Given the description of an element on the screen output the (x, y) to click on. 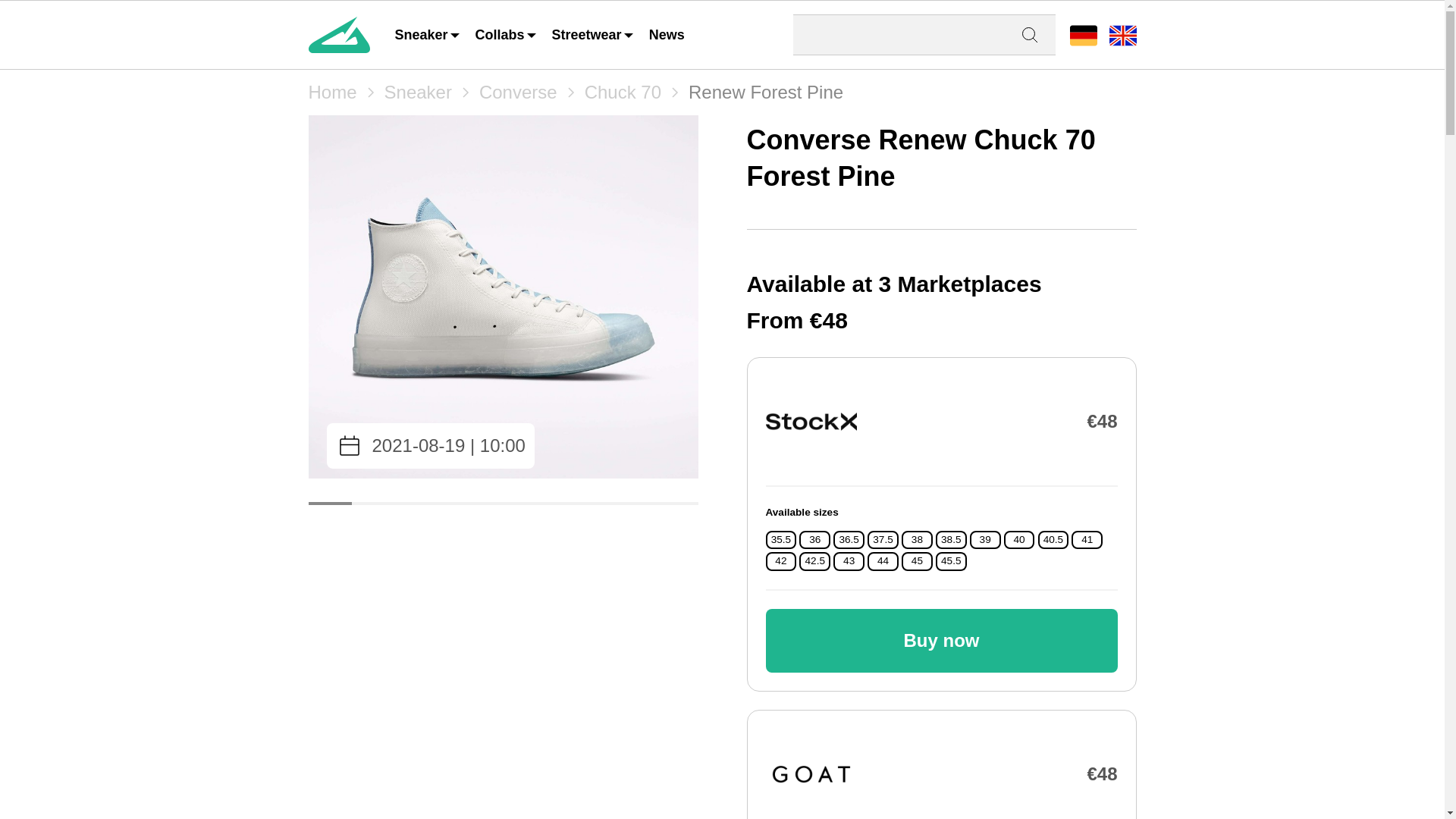
Sneaker (427, 34)
41 (1087, 539)
Sneaker (417, 92)
43 (848, 560)
Buy now (941, 640)
Renew Forest Pine (765, 92)
Converse (518, 92)
Chuck 70 (623, 92)
English (1121, 34)
40.5 (1052, 539)
Home (331, 92)
37.5 (882, 539)
45.5 (950, 560)
42.5 (815, 560)
36 (815, 539)
